Given the description of an element on the screen output the (x, y) to click on. 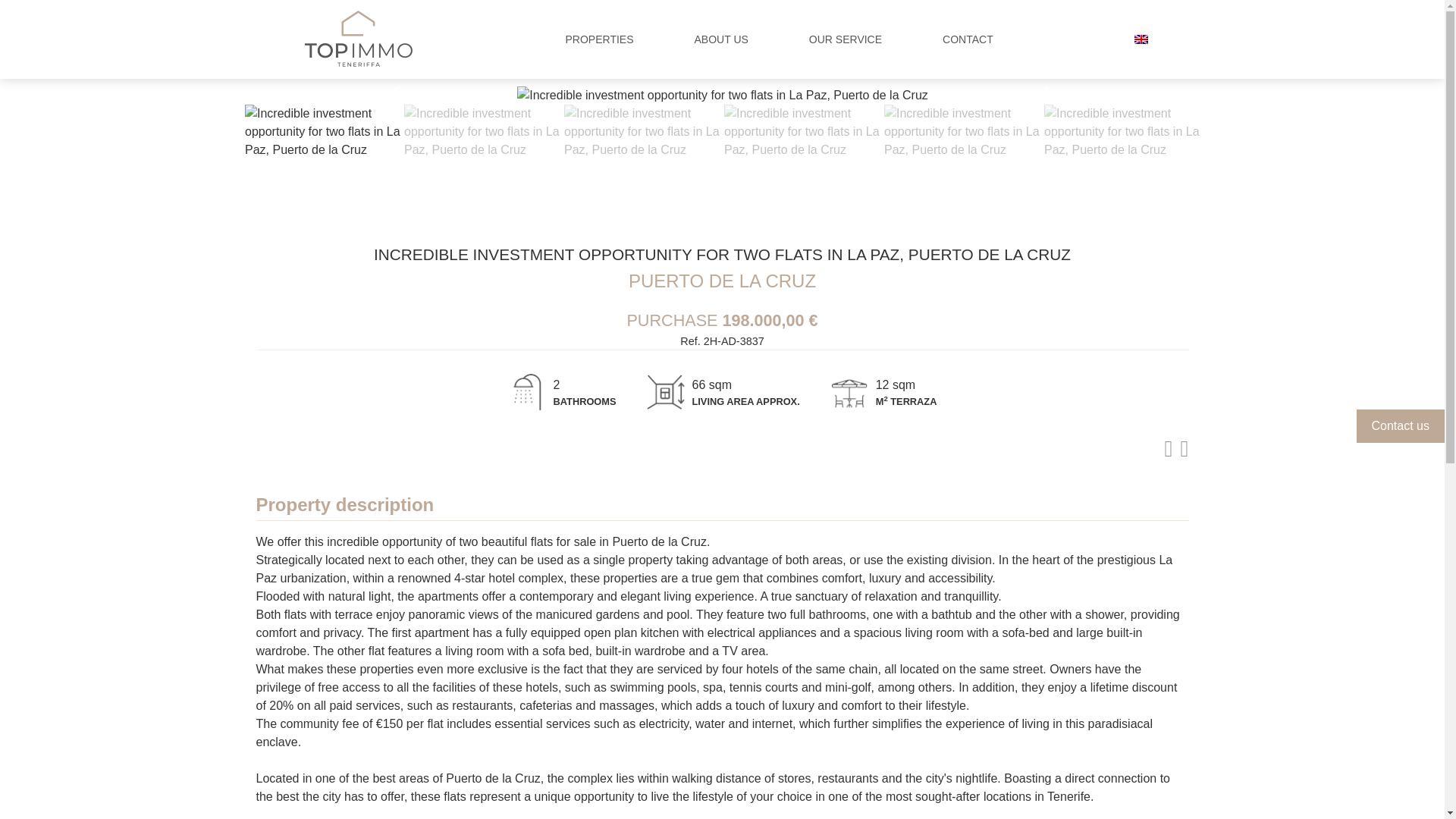
OUR SERVICE (845, 38)
ABOUT US (720, 38)
PROPERTIES (599, 38)
CONTACT (967, 38)
